Given the description of an element on the screen output the (x, y) to click on. 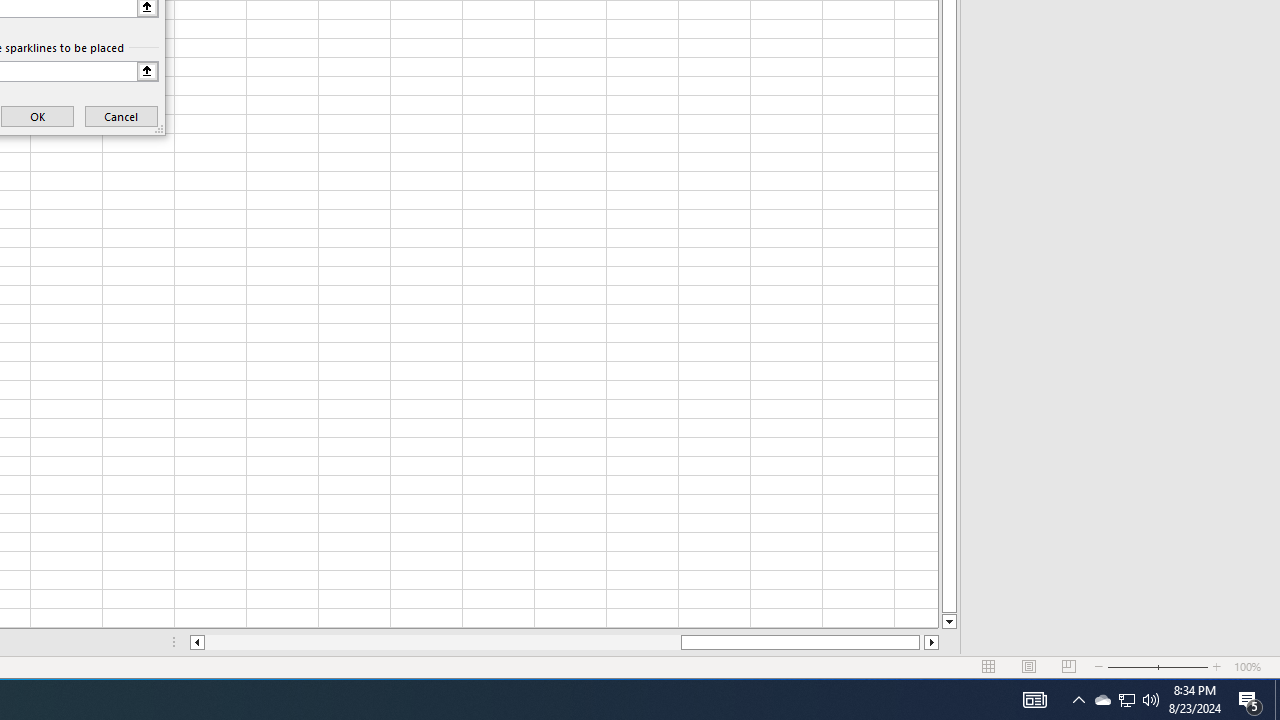
Zoom (1158, 667)
Column right (932, 642)
Page left (442, 642)
Normal (988, 667)
Column left (196, 642)
Zoom In (1217, 667)
Line down (948, 622)
Zoom Out (1131, 667)
Class: NetUIScrollBar (564, 642)
Page Break Preview (1069, 667)
Page right (922, 642)
